Given the description of an element on the screen output the (x, y) to click on. 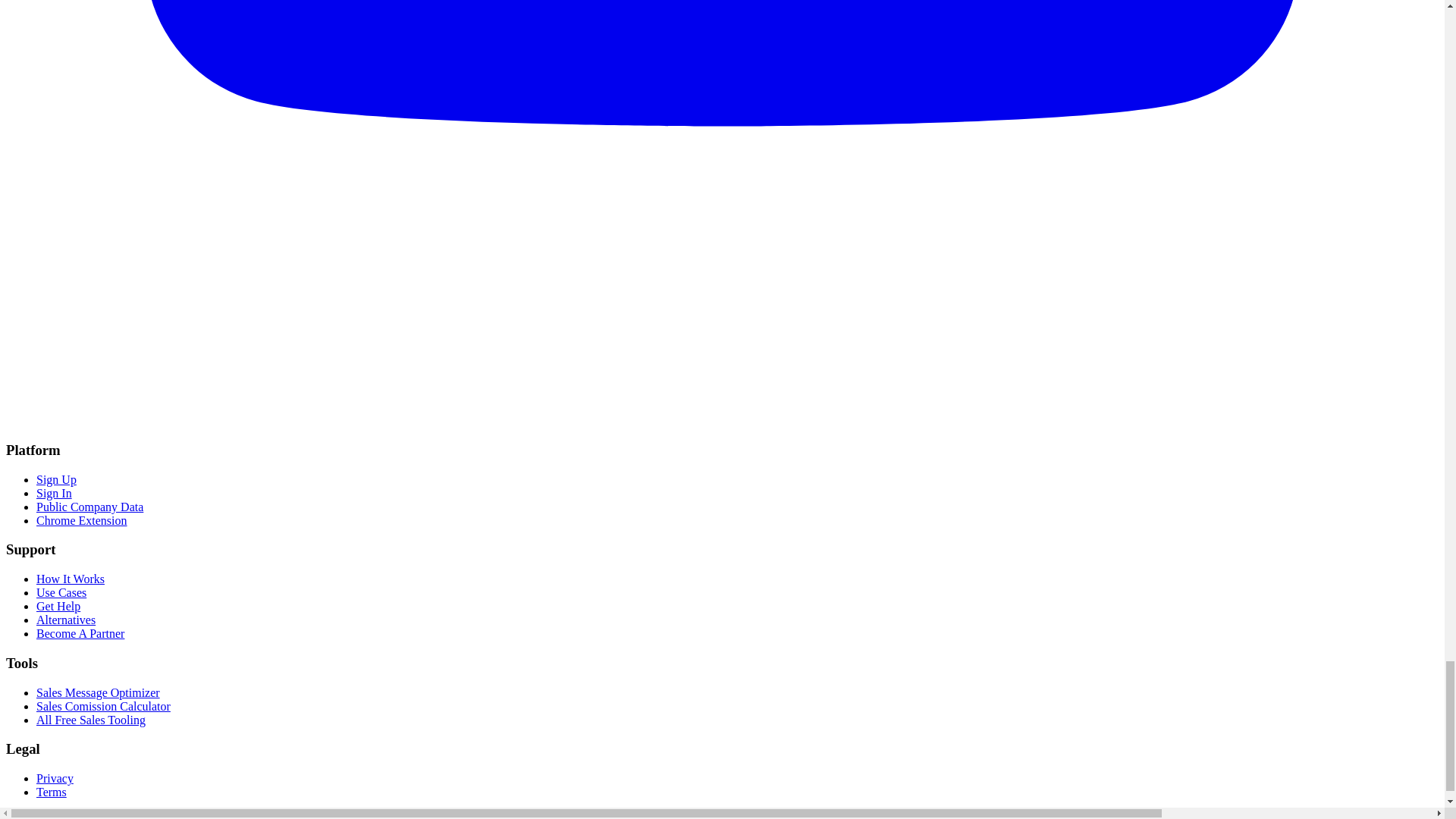
Sales Message Optimizer (98, 692)
Sign Up (56, 479)
Public Company Data (89, 506)
How It Works (70, 578)
Become A Partner (79, 633)
Terms (51, 791)
Alternatives (66, 619)
Chrome Extension (82, 520)
Get Help (58, 605)
Privacy (55, 778)
